Given the description of an element on the screen output the (x, y) to click on. 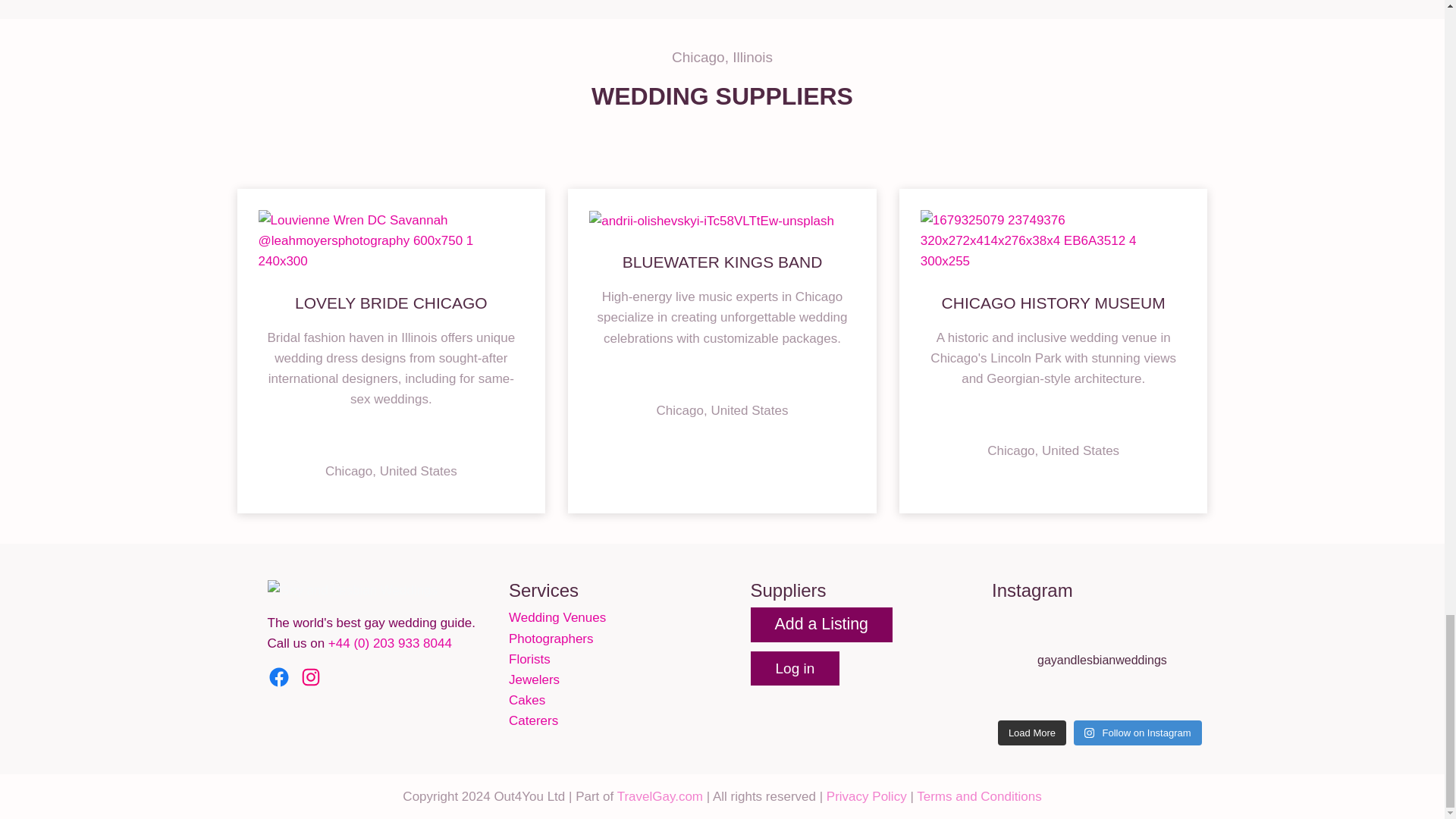
View: Lovely Bride Chicago (391, 303)
andrii-olishevskyi-iTc58VLTtEw-unsplash (711, 220)
View: Bluewater Kings Band (722, 262)
